Given the description of an element on the screen output the (x, y) to click on. 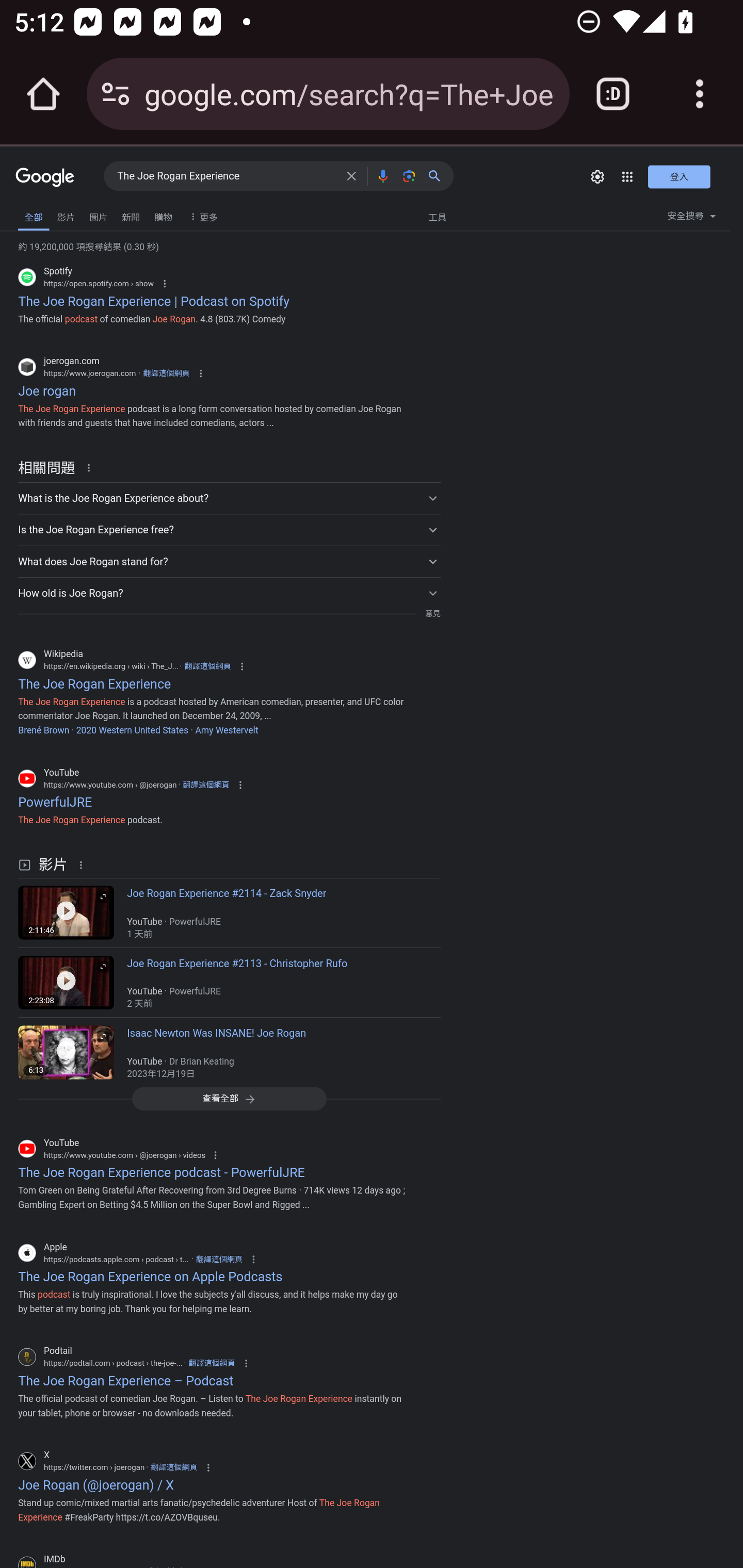
Open the home page (43, 93)
Connection is secure (115, 93)
Switch or close tabs (612, 93)
Customize and control Google Chrome (699, 93)
 清除 (351, 175)
語音搜尋 (382, 175)
以圖搜尋 (408, 175)
搜尋  (438, 175)
設定 (597, 176)
Google 應用程式 (626, 176)
登入 (678, 176)
Google (45, 178)
The Joe Rogan Experience (225, 176)
無障礙功能意見 (41, 212)
影片 (65, 215)
圖片 (98, 215)
新聞 (131, 215)
購物 (163, 215)
更多 (201, 215)
安全搜尋 (691, 218)
工具 (437, 215)
翻譯這個網頁 (166, 372)
關於此結果 (92, 466)
What is the Joe Rogan Experience about? (228, 498)
Is the Joe Rogan Experience free? (228, 528)
What does Joe Rogan stand for? (228, 561)
How old is Joe Rogan? (228, 592)
意見 (432, 613)
翻譯這個網頁 (207, 666)
Brené Brown (43, 729)
2020 Western United States (131, 729)
Amy Westervelt (226, 729)
翻譯這個網頁 (205, 784)
關於此結果 (83, 864)
查看全部 (229, 1098)
翻譯這個網頁 (218, 1258)
翻譯這個網頁 (211, 1362)
翻譯這個網頁 (173, 1467)
